Given the description of an element on the screen output the (x, y) to click on. 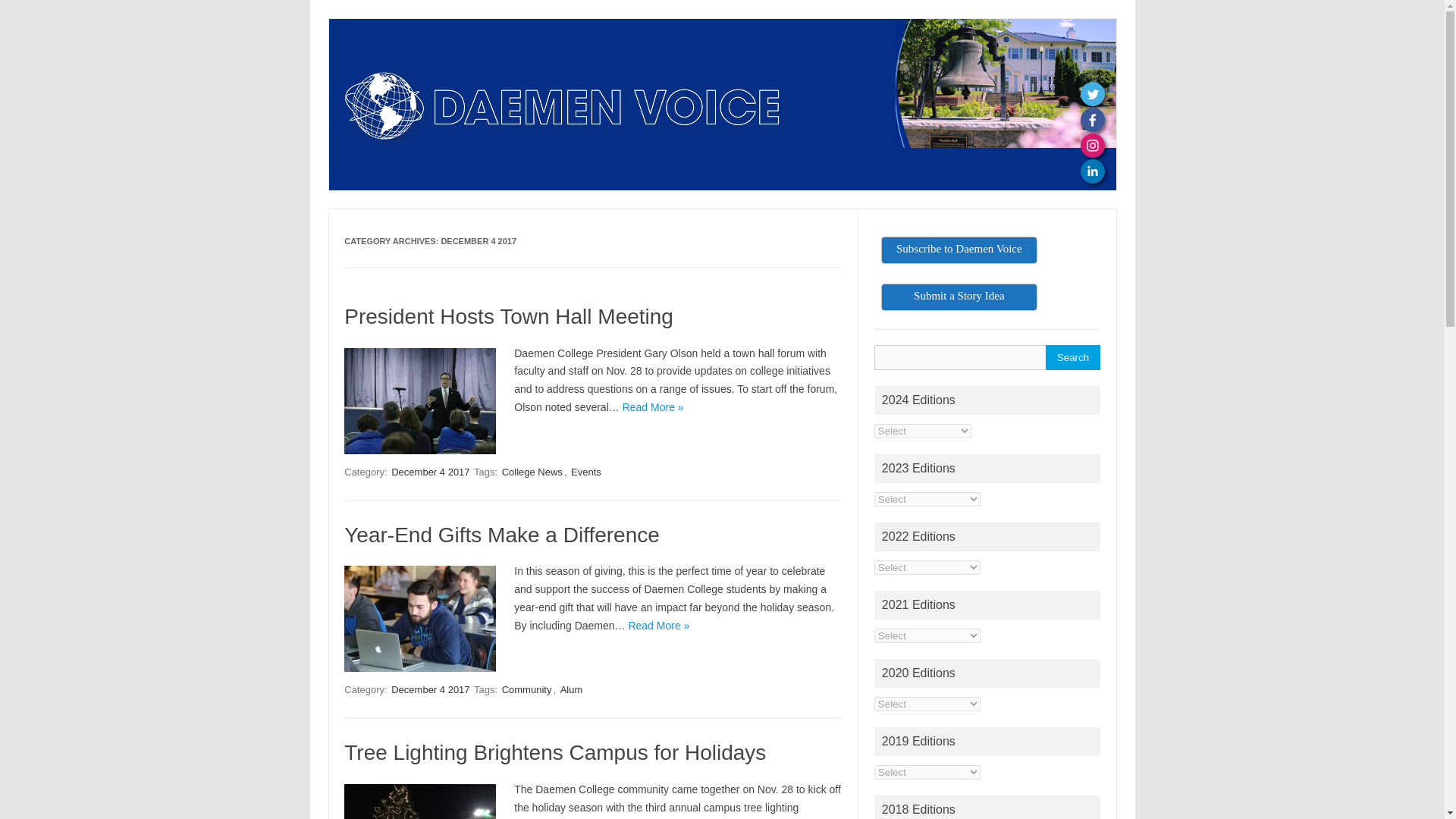
Alum (572, 689)
Permalink to Year-End Gifts Make a Difference (501, 535)
Events (585, 472)
Submit a Story Idea (959, 297)
Community (526, 689)
Tree Lighting Brightens Campus for Holidays (554, 752)
Daemen Voice (563, 164)
President Hosts Town Hall Meeting (507, 316)
College News (532, 472)
Permalink to President Hosts Town Hall Meeting (507, 316)
December 4 2017 (430, 689)
Year-End Gifts Make a Difference (501, 535)
December 4 2017 (430, 472)
Permalink to Tree Lighting Brightens Campus for Holidays (554, 752)
Subscribe (959, 249)
